Given the description of an element on the screen output the (x, y) to click on. 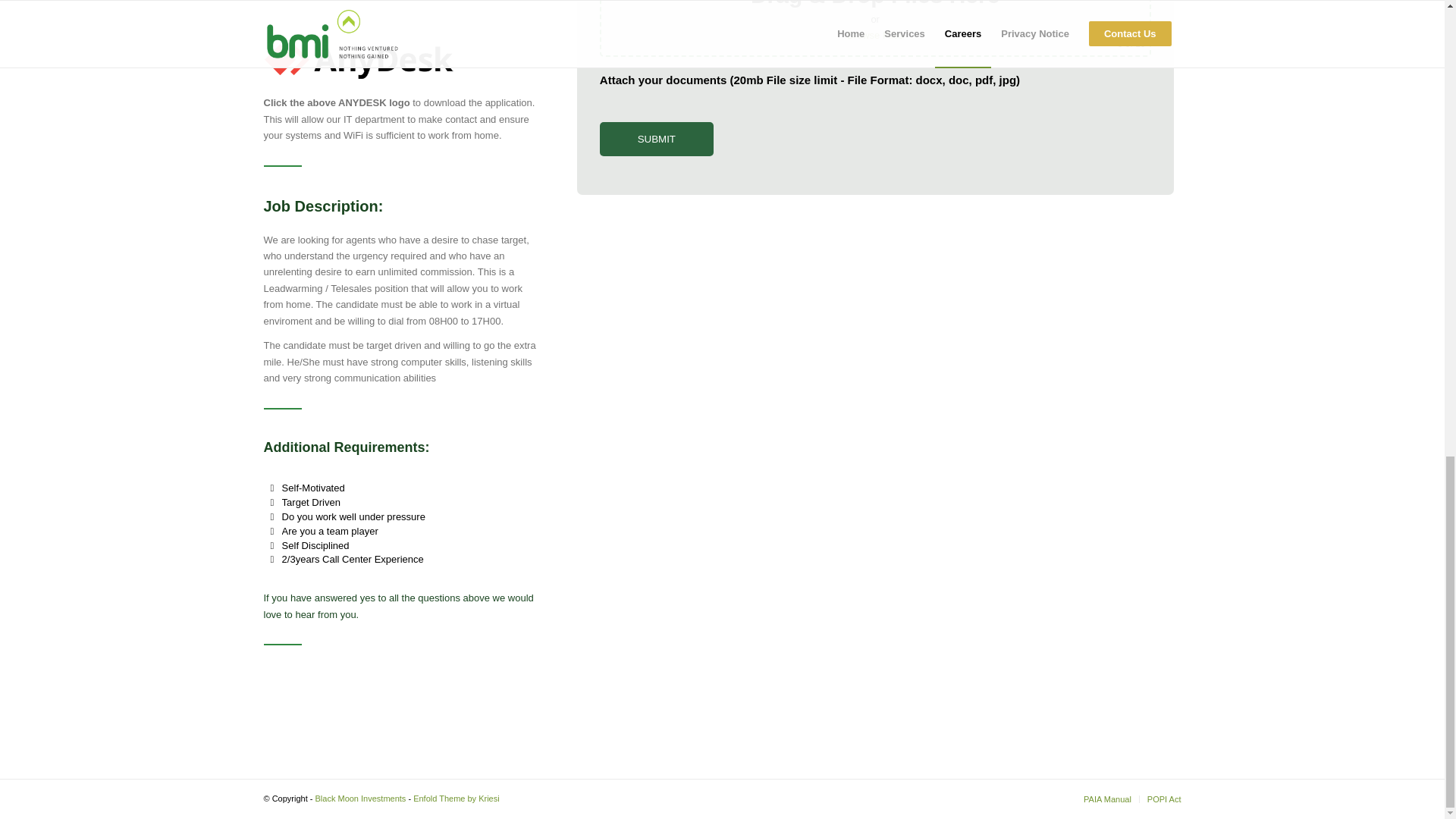
Enfold Theme by Kriesi (456, 798)
Browse Files (874, 34)
POPI Act (1163, 798)
SUBMIT (656, 139)
PAIA Manual (1107, 798)
SUBMIT (656, 139)
Black Moon Investments (360, 798)
